Given the description of an element on the screen output the (x, y) to click on. 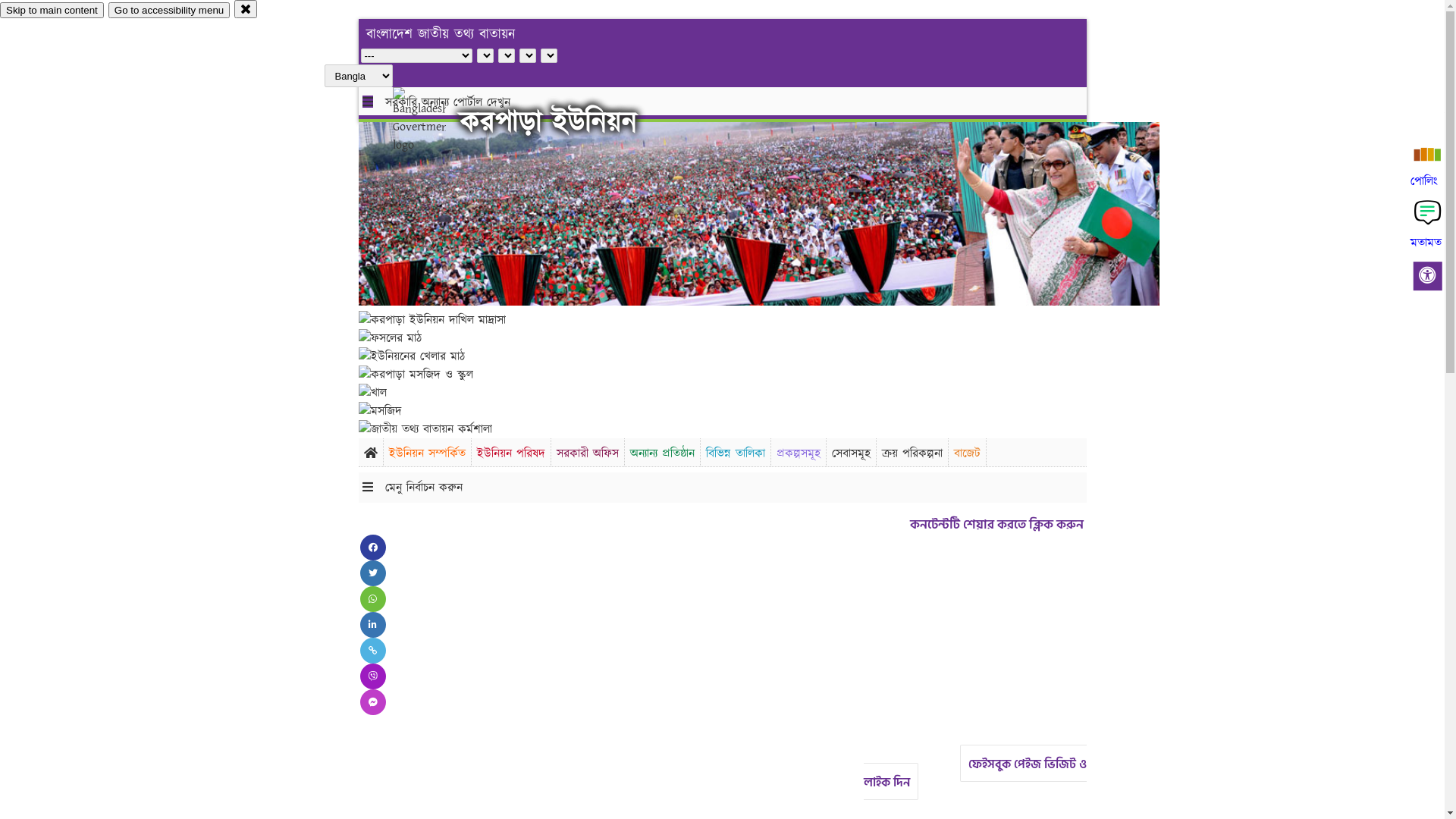

                
             Element type: hover (431, 120)
Go to accessibility menu Element type: text (168, 10)
Skip to main content Element type: text (51, 10)
close Element type: hover (245, 9)
